Given the description of an element on the screen output the (x, y) to click on. 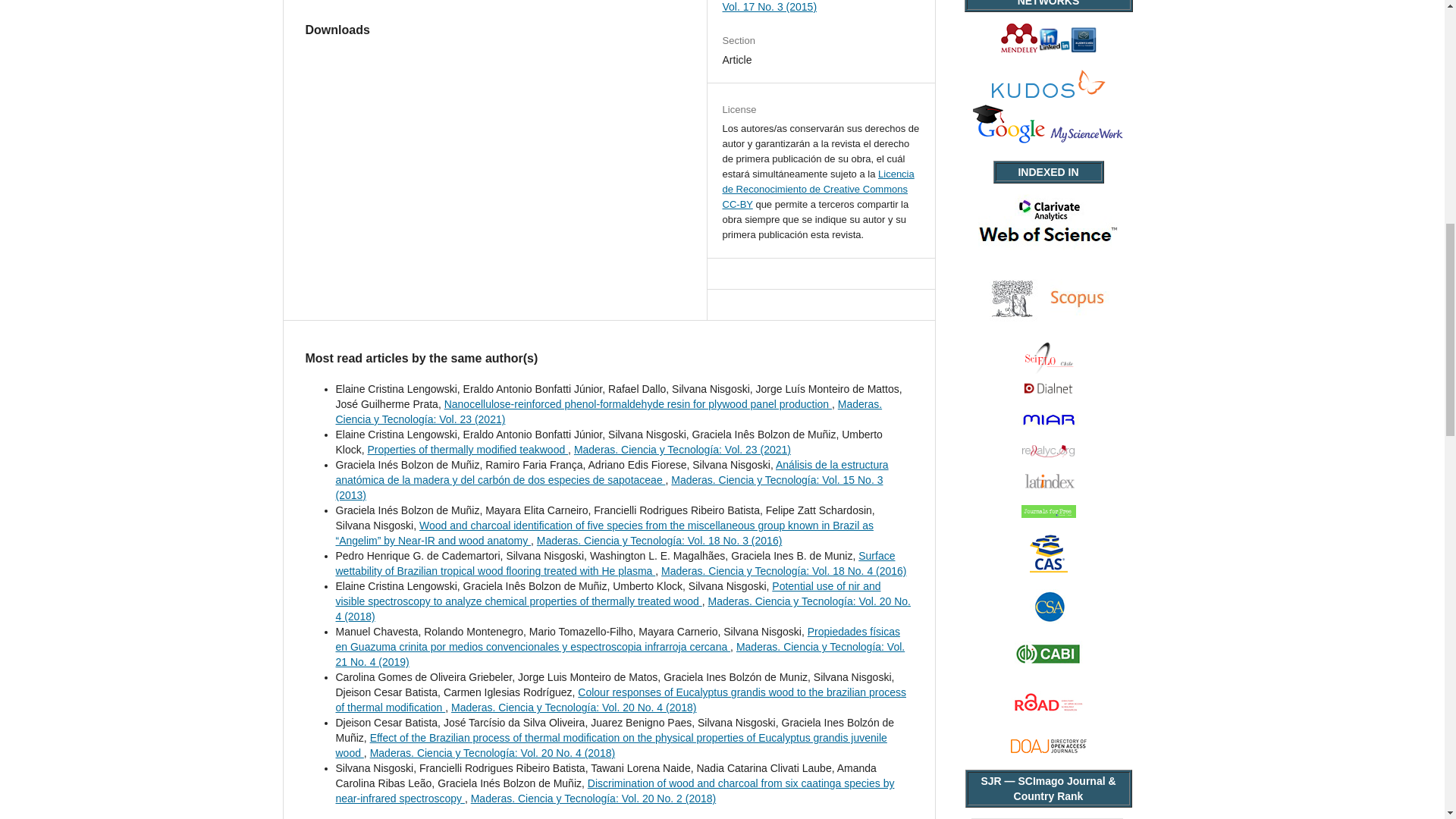
Licencia de Reconocimiento de Creative Commons CC-BY (818, 188)
